Given the description of an element on the screen output the (x, y) to click on. 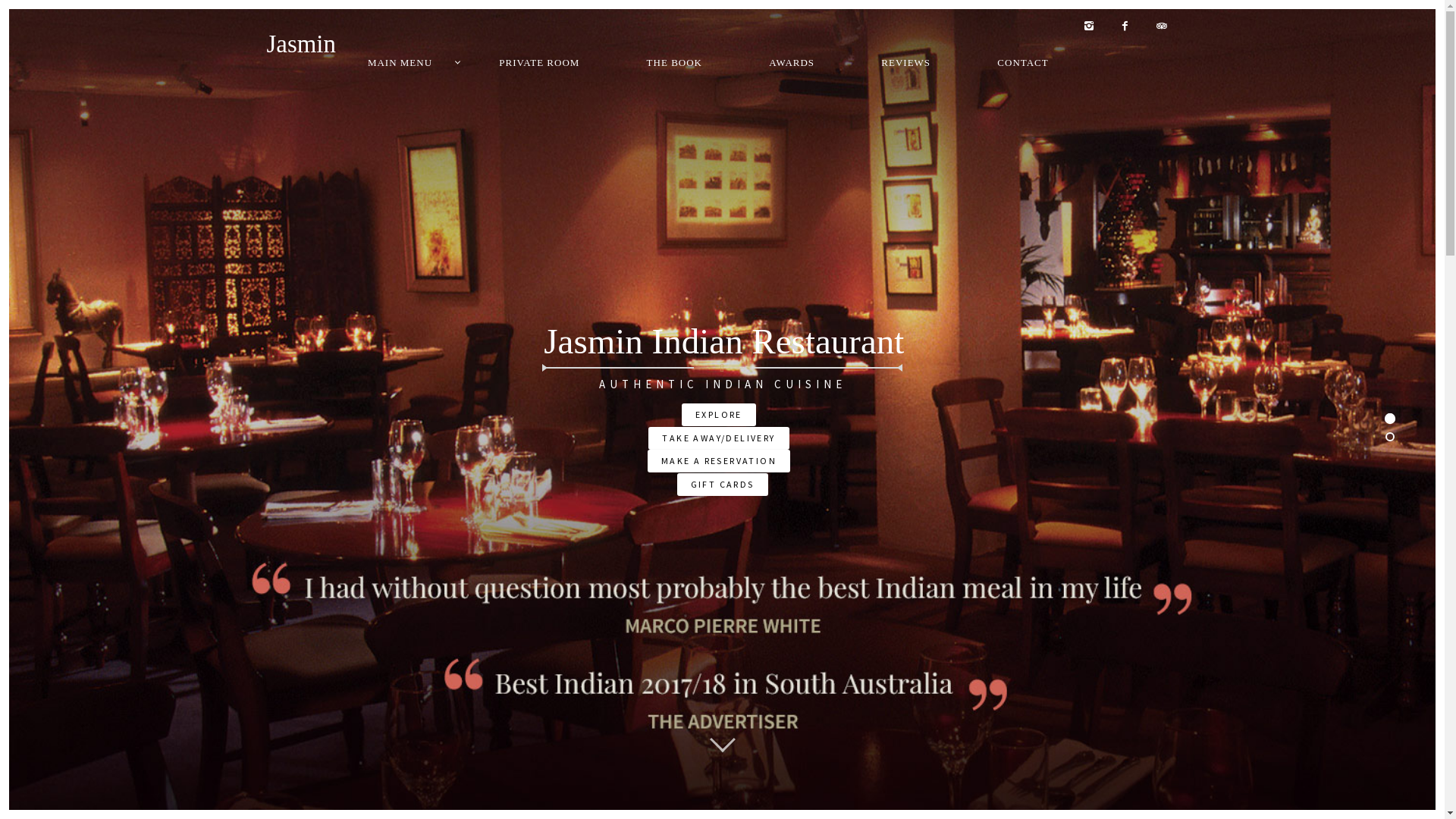
MAKE A RESERVATION Element type: text (718, 460)
GIFT CARDS Element type: text (721, 484)
PRIVATE ROOM Element type: text (539, 62)
THE BOOK Element type: text (674, 62)
REVIEWS Element type: text (905, 62)
CONTACT Element type: text (1022, 62)
MAIN MENU Element type: text (399, 62)
TAKE AWAY/DELIVERY Element type: text (718, 437)
Jasmin Element type: text (300, 44)
AWARDS Element type: text (791, 62)
EXPLORE Element type: text (718, 414)
